Given the description of an element on the screen output the (x, y) to click on. 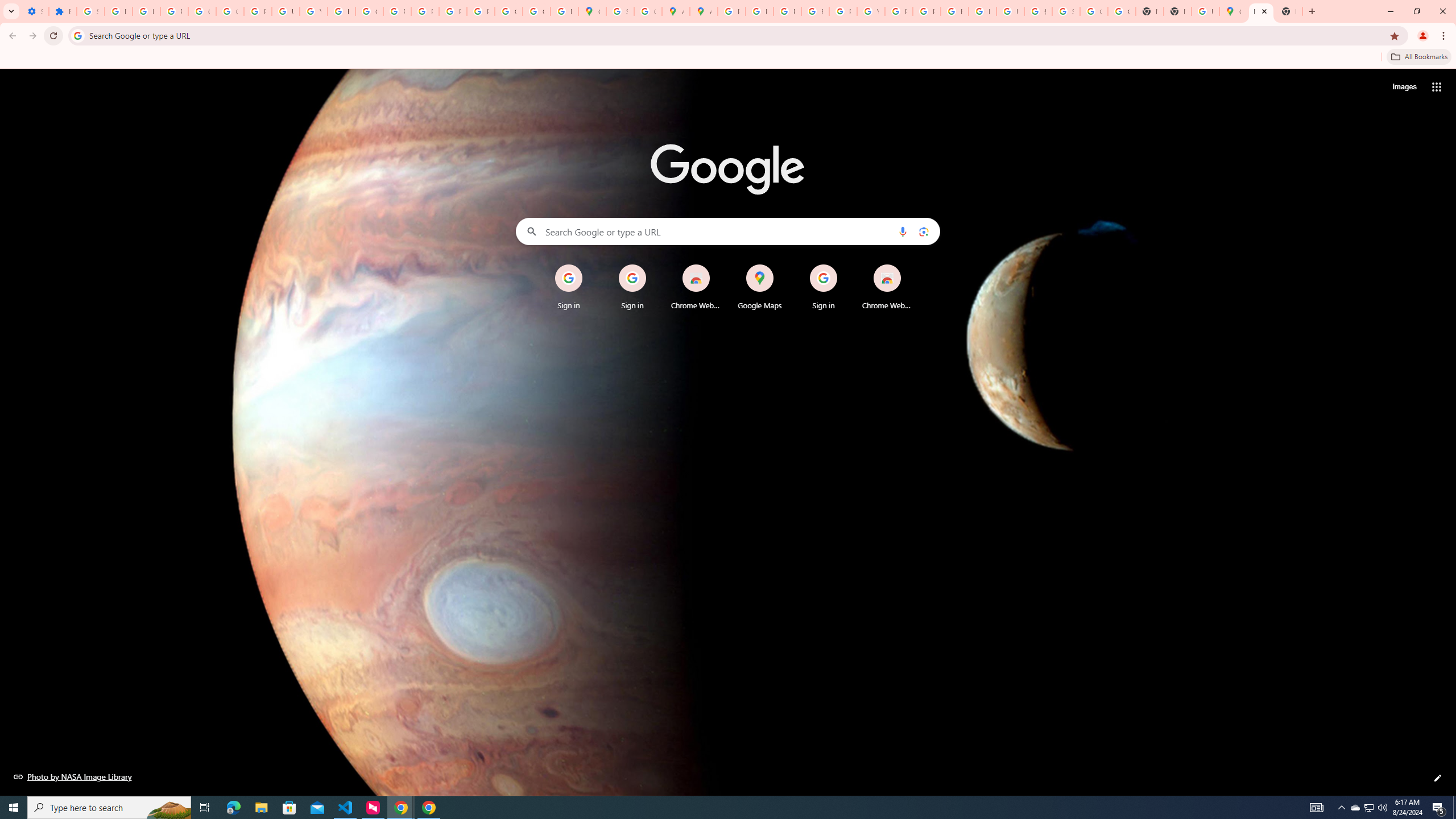
Settings - On startup (34, 11)
New Tab (1177, 11)
Customize this page (1437, 778)
YouTube (313, 11)
Policy Accountability and Transparency - Transparency Center (731, 11)
Privacy Help Center - Policies Help (759, 11)
